Given the description of an element on the screen output the (x, y) to click on. 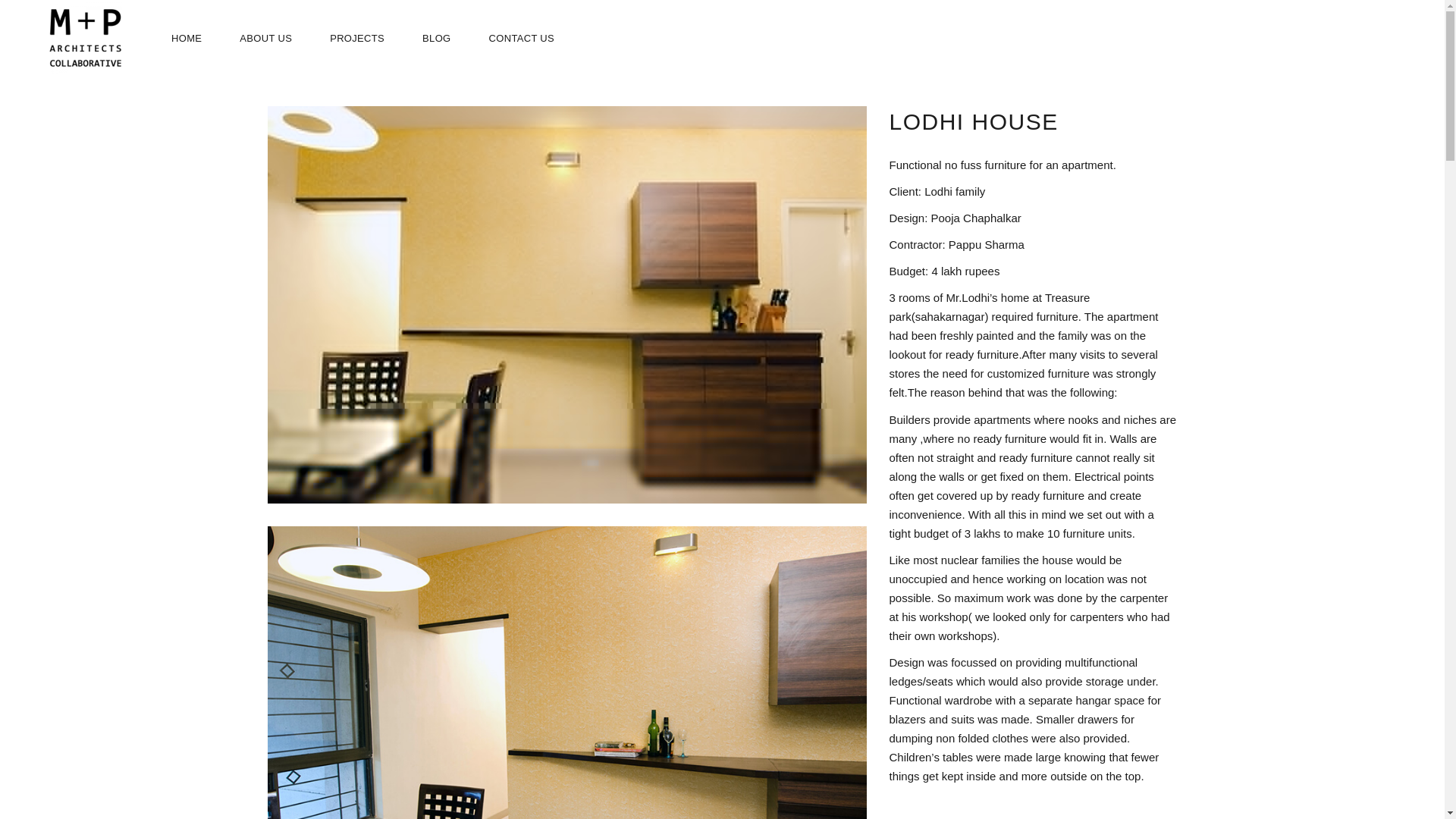
HOME (186, 37)
PROJECTS (357, 37)
ABOUT US (266, 37)
CONTACT US (521, 37)
